Given the description of an element on the screen output the (x, y) to click on. 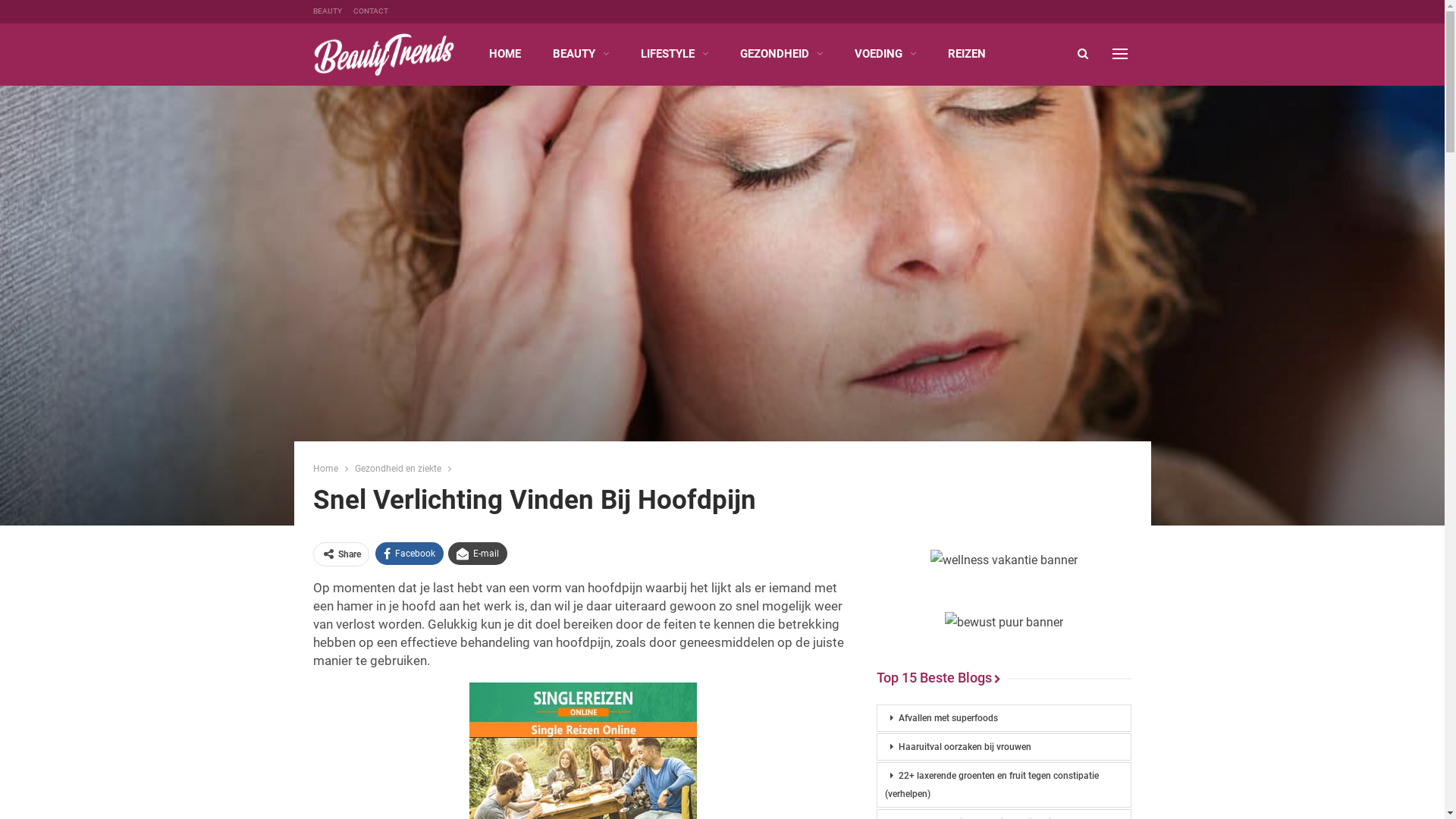
E-mail Element type: text (476, 553)
HOME Element type: text (504, 53)
CONTACT Element type: text (370, 10)
BEAUTY Element type: text (579, 53)
GEZONDHEID Element type: text (781, 53)
BEAUTY Element type: text (326, 10)
Afvallen met superfoods Element type: text (1003, 717)
REIZEN Element type: text (966, 53)
Haaruitval oorzaken bij vrouwen Element type: text (1003, 746)
Facebook Element type: text (408, 553)
LIFESTYLE Element type: text (673, 53)
Gezondheid en ziekte Element type: text (397, 468)
VOEDING Element type: text (884, 53)
Home Element type: text (324, 468)
